Given the description of an element on the screen output the (x, y) to click on. 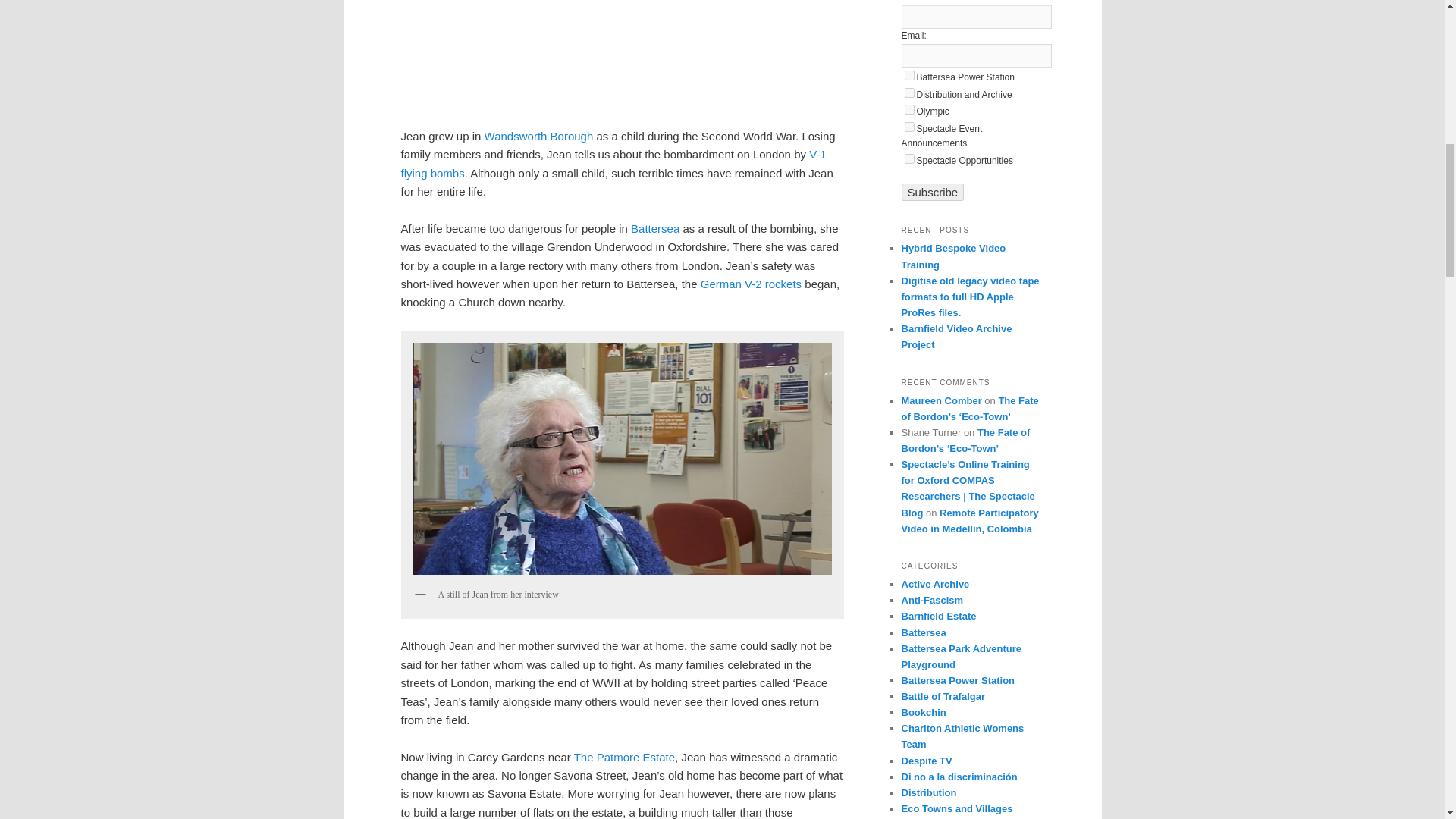
The Patmore Estate (624, 757)
German V-2 rockets (751, 283)
on (909, 75)
Subscribe (932, 191)
on (909, 109)
Battersea (654, 228)
on (909, 92)
on (909, 158)
Wandsworth Borough (539, 135)
